Given the description of an element on the screen output the (x, y) to click on. 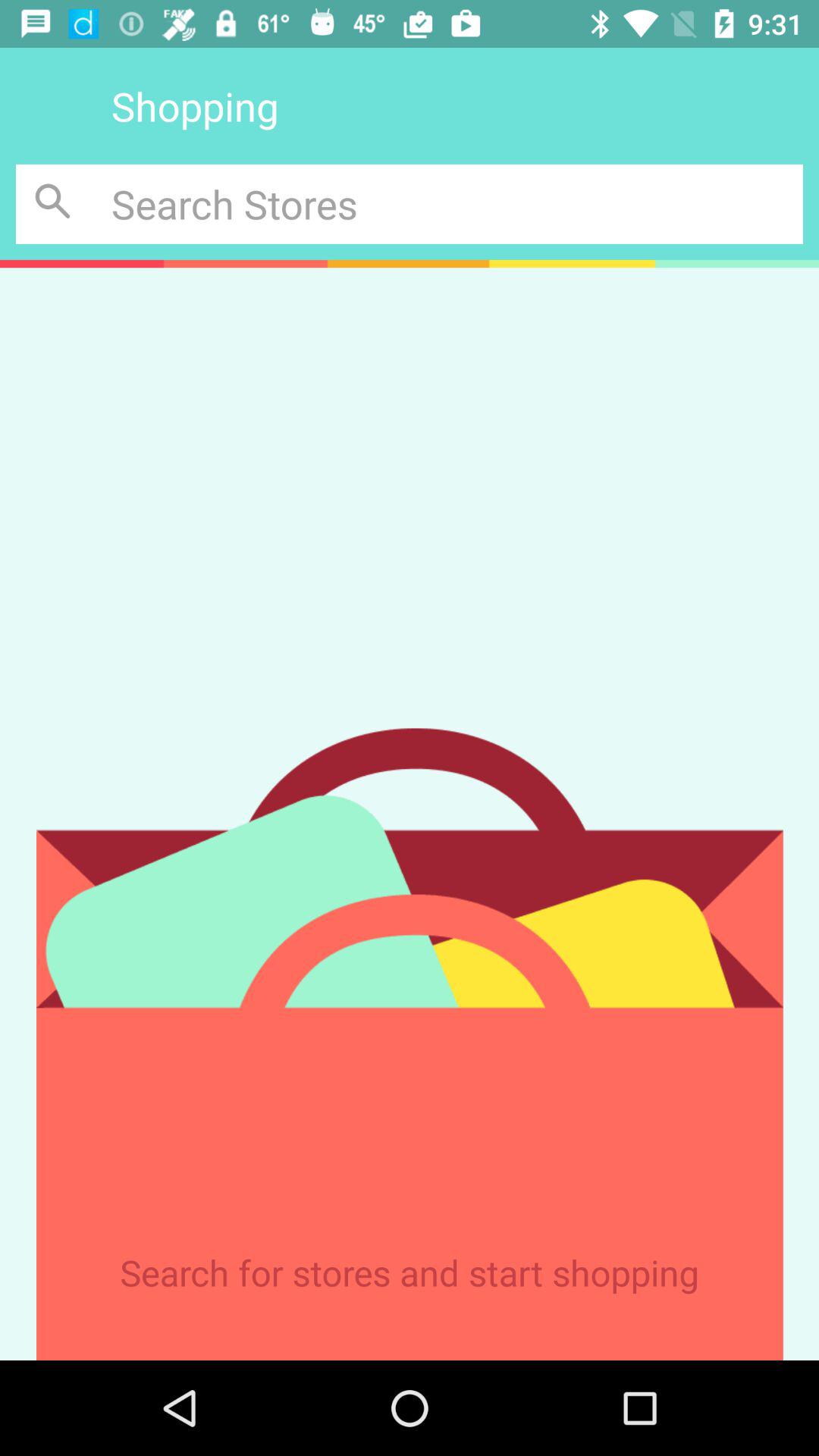
enter search inquiry (457, 203)
